Given the description of an element on the screen output the (x, y) to click on. 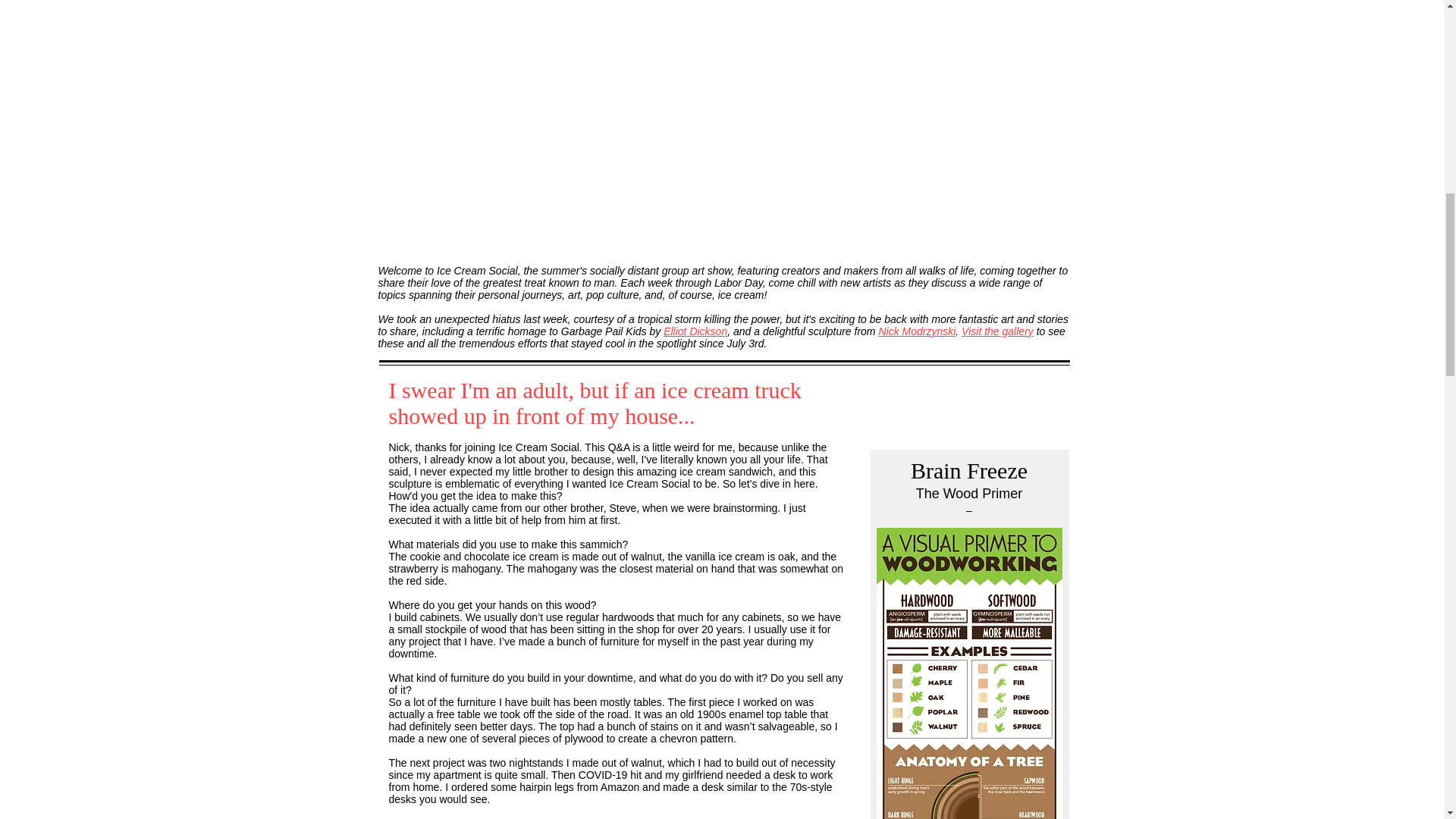
Visit the gallery (996, 331)
Nick Modrzynski (916, 331)
Elliot Dickson (694, 331)
